Given the description of an element on the screen output the (x, y) to click on. 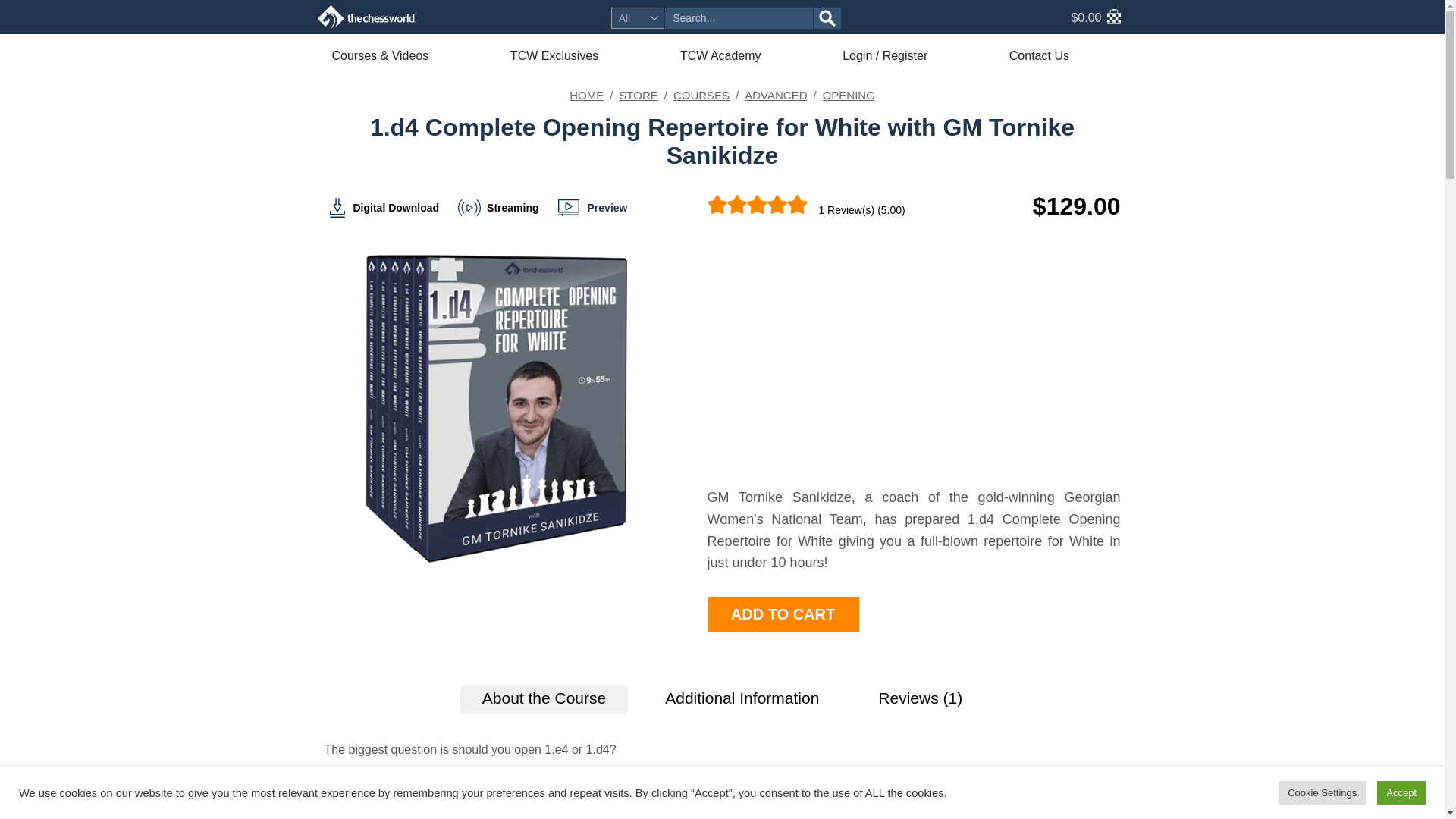
Contact Us (1061, 53)
TheChessWorld (365, 16)
ADD TO CART (782, 614)
TCW Academy (742, 53)
additional (742, 698)
COURSES (700, 93)
TCW Exclusives (576, 53)
reviews (920, 698)
OPENING (848, 93)
STORE (638, 93)
